Given the description of an element on the screen output the (x, y) to click on. 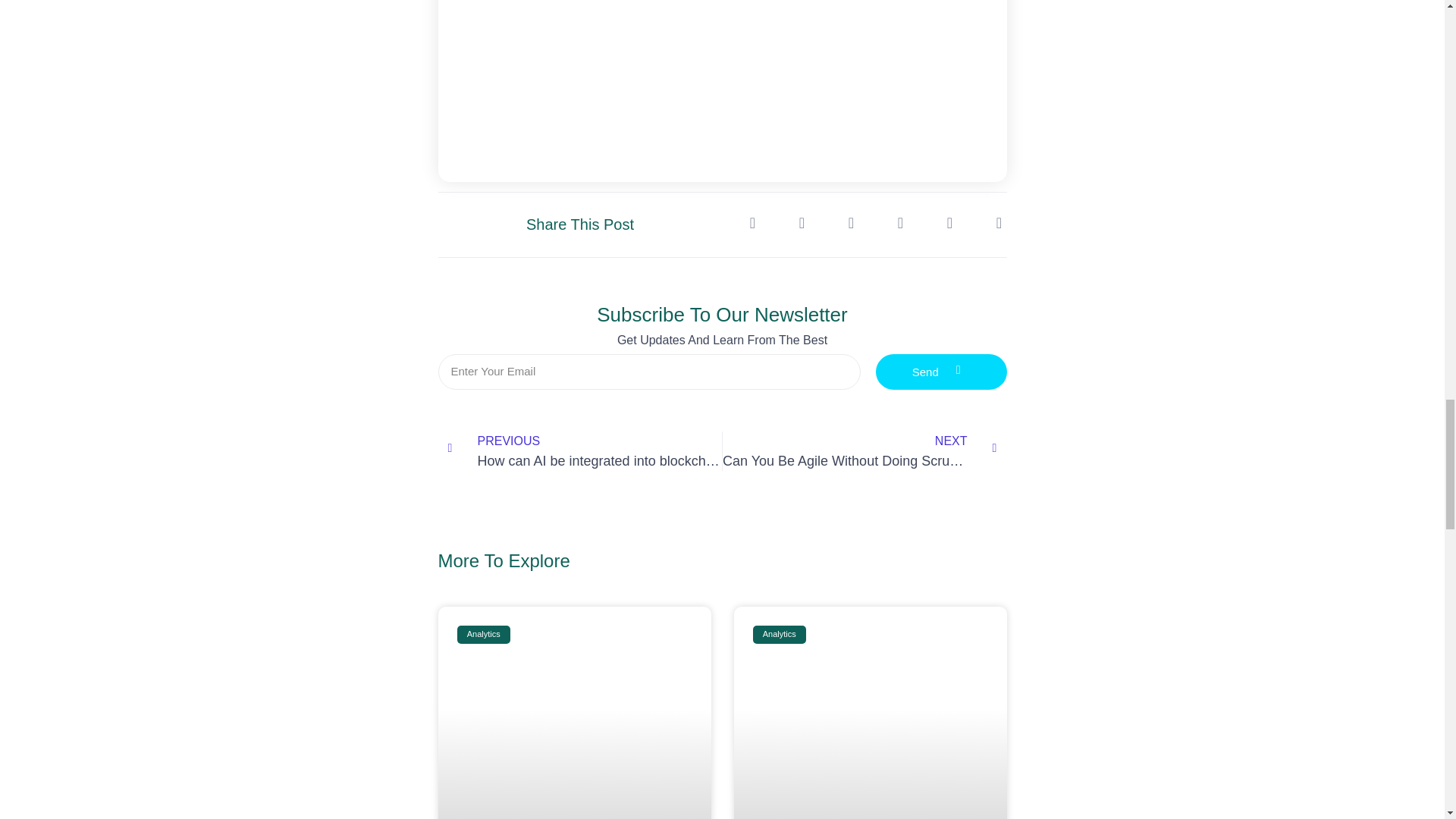
Send (864, 450)
